Given the description of an element on the screen output the (x, y) to click on. 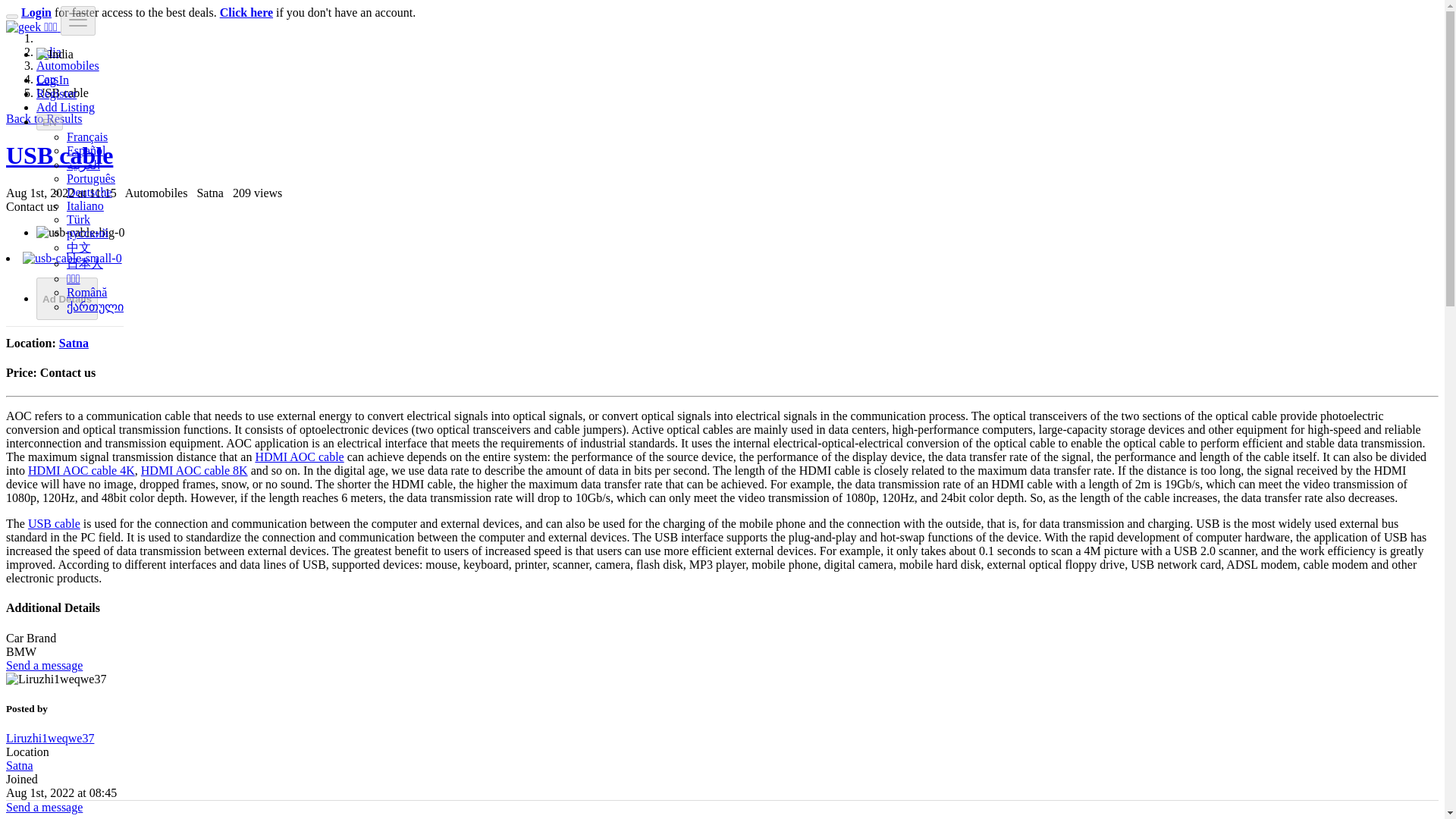
HDMI AOC cable (298, 456)
Automobiles (67, 65)
HDMI AOC cable 8K (194, 470)
India (48, 51)
Click here (246, 11)
USB cable (59, 154)
EN (49, 122)
USB cable (59, 154)
Satna (73, 342)
Cars (47, 78)
Back to Results (43, 118)
Register (56, 92)
Log In (52, 79)
Ad Details (66, 298)
Deutsche (89, 192)
